Given the description of an element on the screen output the (x, y) to click on. 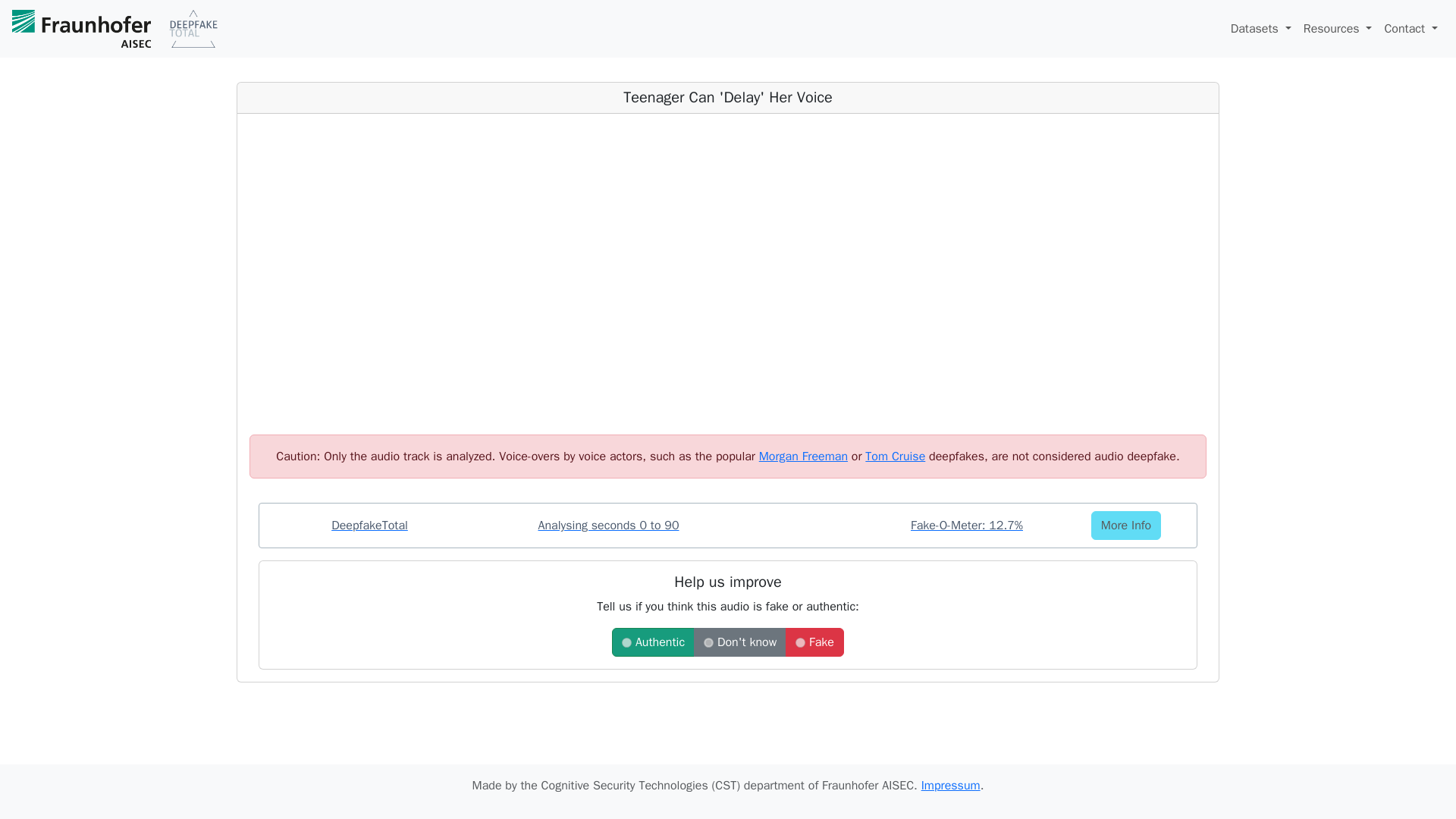
on (708, 642)
More Info (1125, 525)
on (799, 642)
on (626, 642)
Contact (1410, 28)
Morgan Freeman (802, 456)
Resources (1337, 28)
Datasets (1260, 28)
Tom Cruise (894, 456)
